Given the description of an element on the screen output the (x, y) to click on. 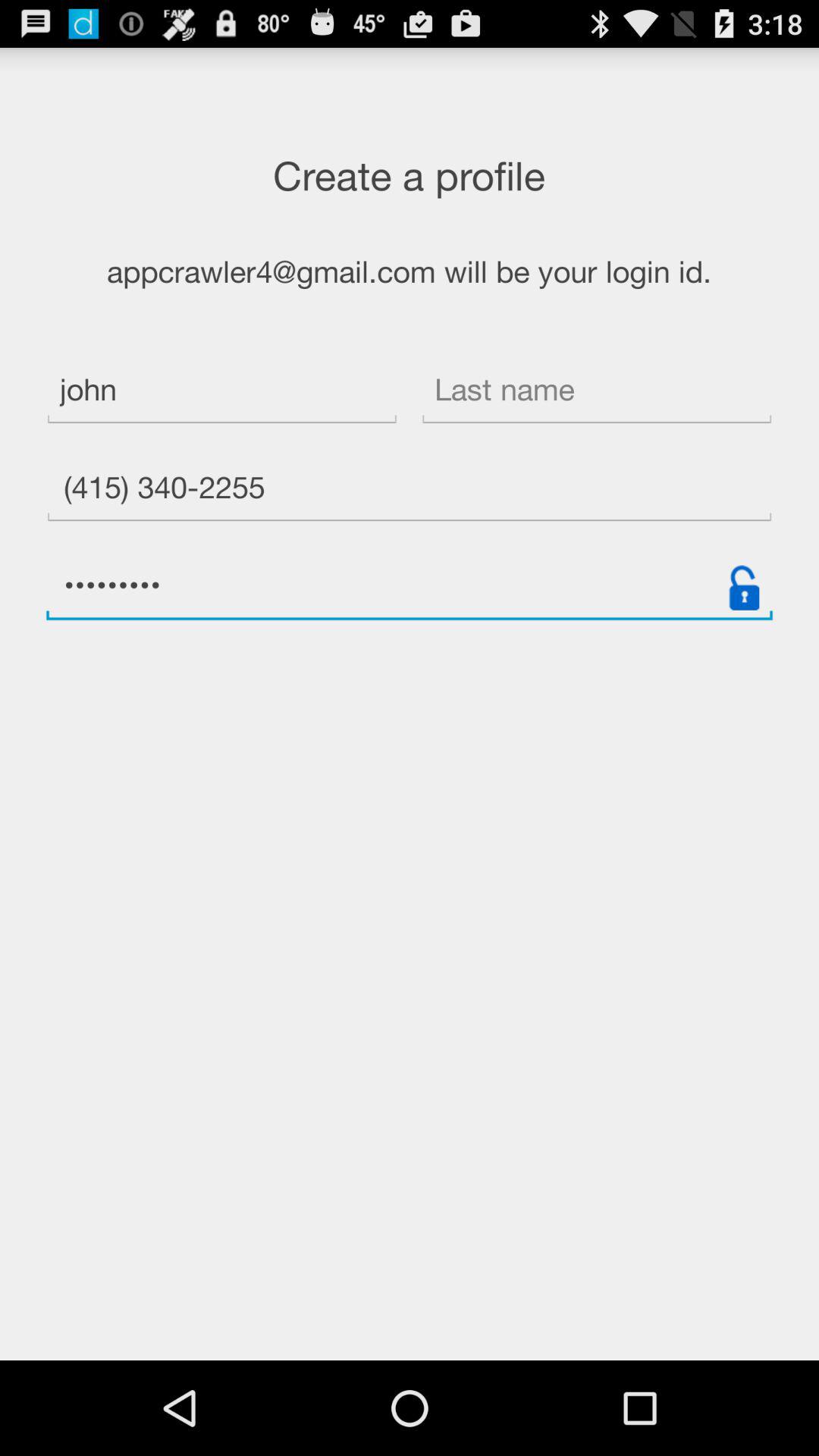
open the item below the john (409, 489)
